Given the description of an element on the screen output the (x, y) to click on. 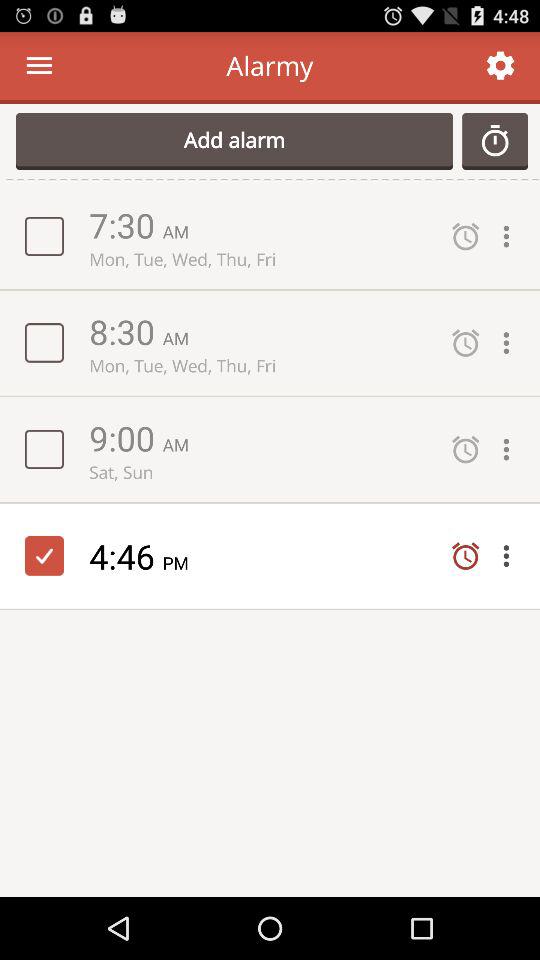
select sat, sun item (259, 471)
